Given the description of an element on the screen output the (x, y) to click on. 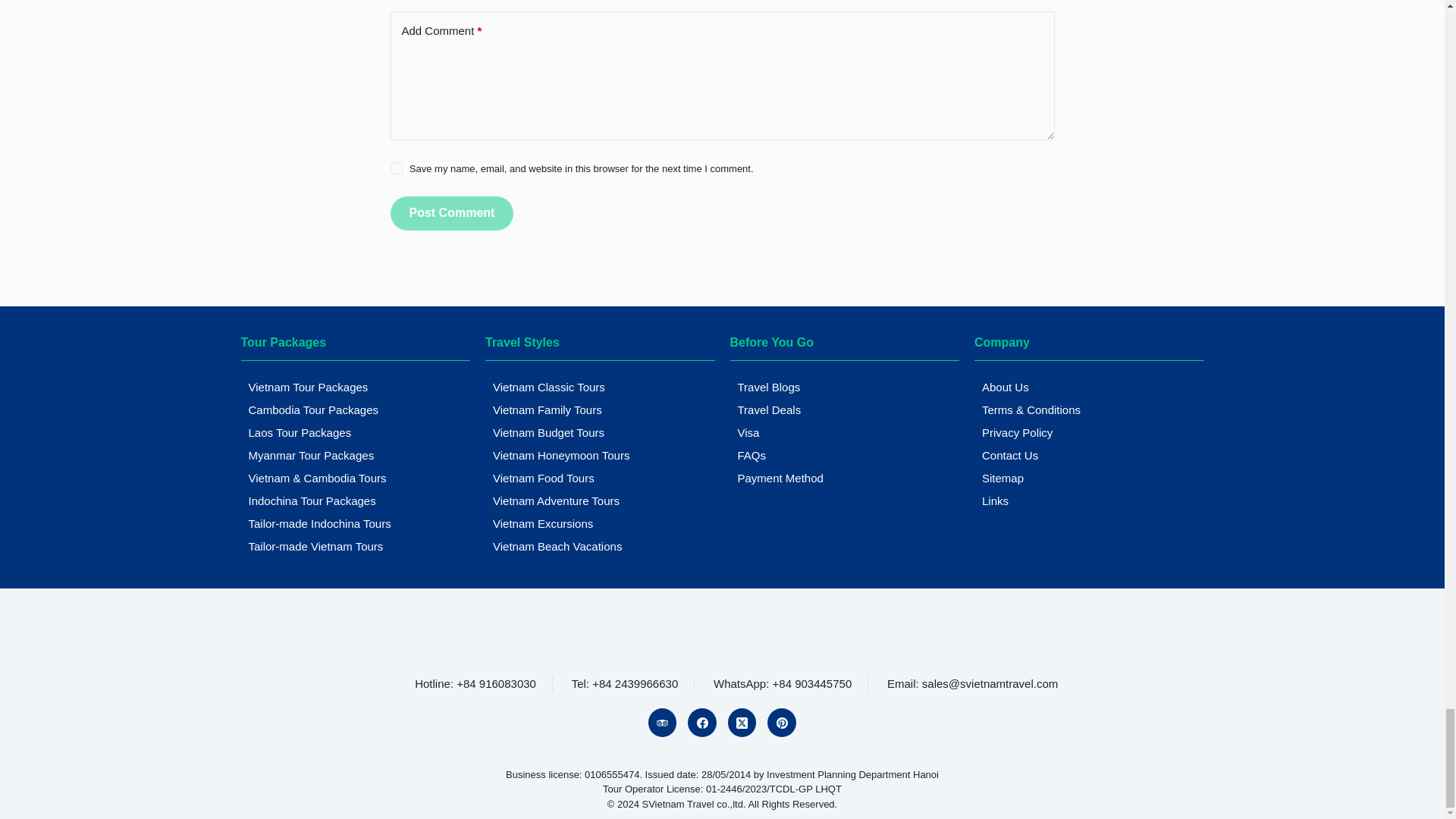
yes (395, 168)
